Given the description of an element on the screen output the (x, y) to click on. 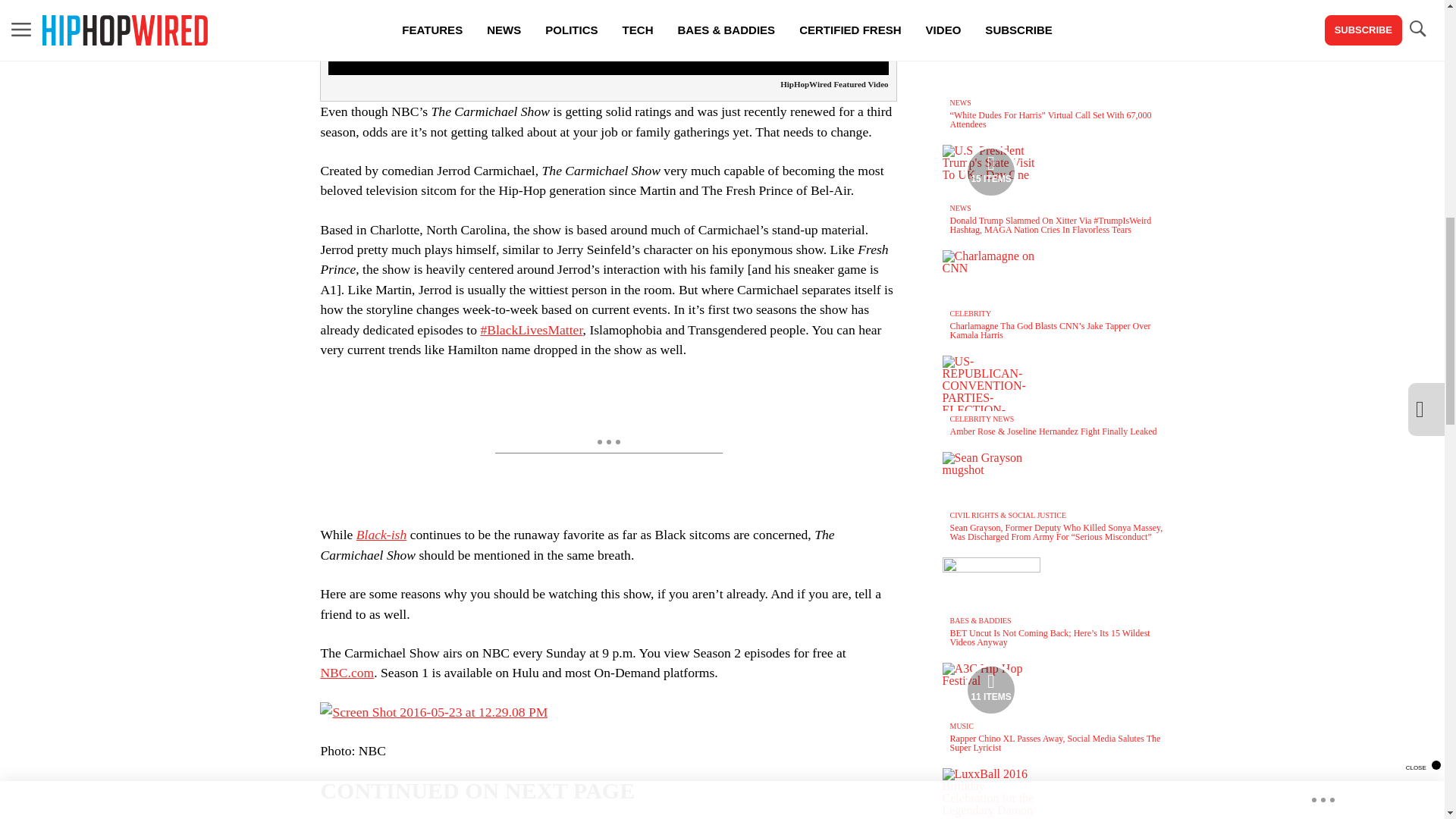
NBC.com (347, 672)
Black-ish (381, 534)
